Given the description of an element on the screen output the (x, y) to click on. 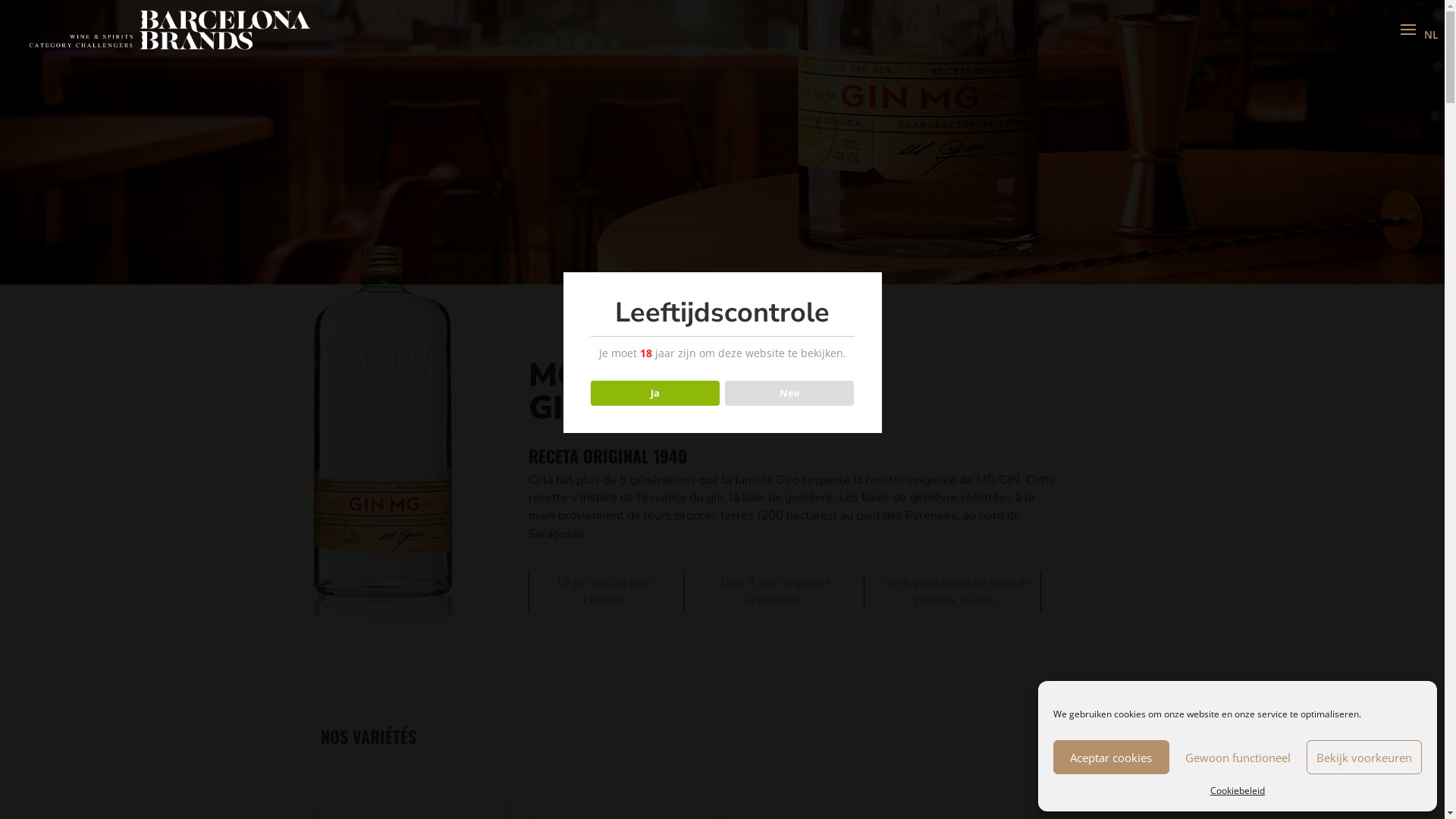
gin mg Element type: hover (382, 390)
Ja Element type: text (655, 393)
Bekijk voorkeuren Element type: text (1363, 757)
Cookiebeleid Element type: text (1237, 790)
Nee Element type: text (789, 393)
Gewoon functioneel Element type: text (1237, 757)
Aceptar cookies Element type: text (1111, 757)
NL Element type: text (1431, 34)
